Given the description of an element on the screen output the (x, y) to click on. 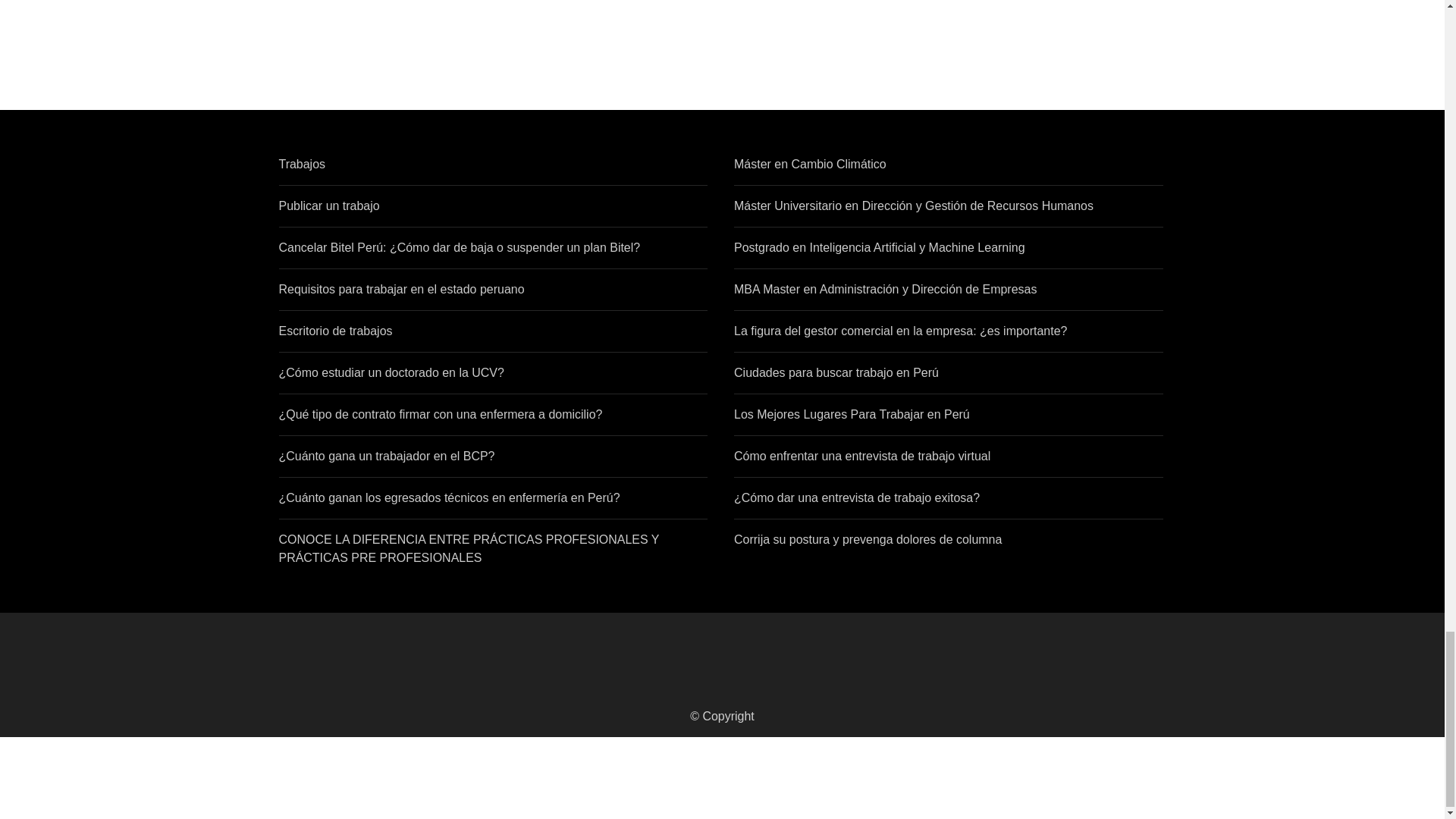
Requisitos para trabajar en el estado peruano (401, 288)
Postgrado en Inteligencia Artificial y Machine Learning (879, 246)
Publicar un trabajo (329, 205)
Trabajos (302, 164)
Escritorio de trabajos (336, 330)
